Given the description of an element on the screen output the (x, y) to click on. 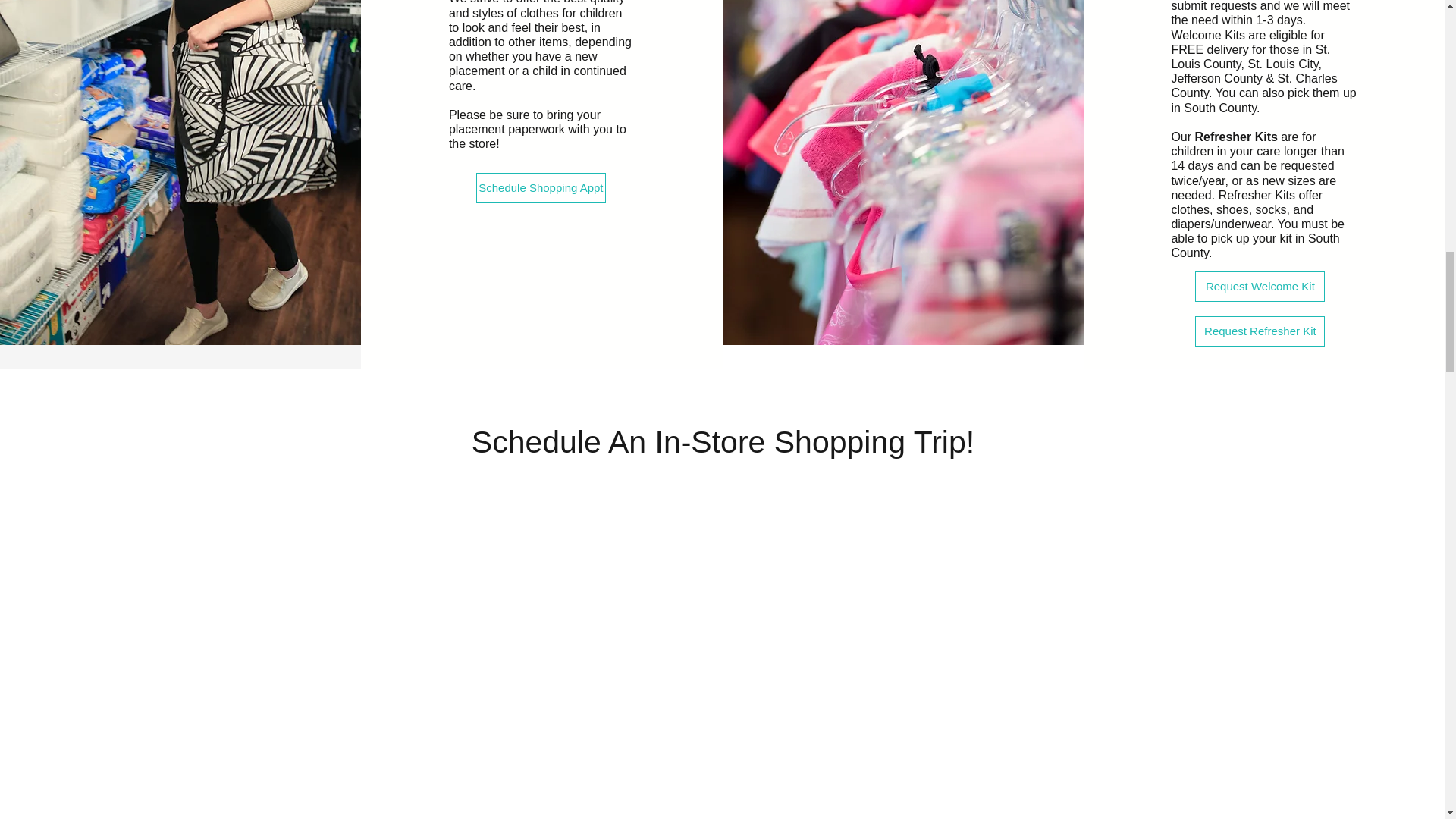
Schedule Shopping Appt (540, 187)
Request Refresher Kit (1259, 331)
Request Welcome Kit (1259, 286)
